Given the description of an element on the screen output the (x, y) to click on. 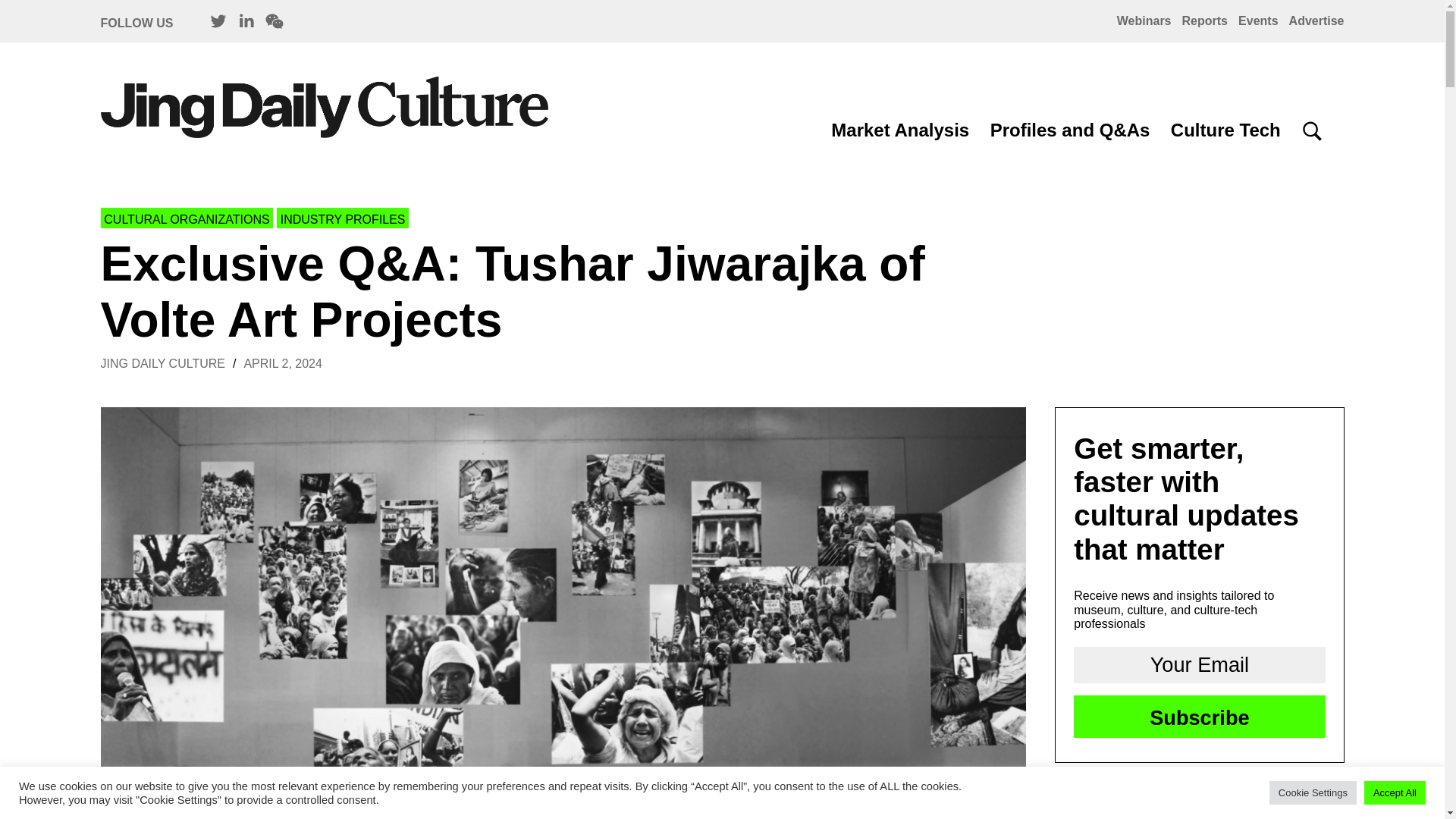
Webinars (1144, 20)
Market Analysis (900, 129)
Culture Tech (1225, 129)
Subscribe (1199, 716)
Advertise (1315, 20)
Reports (1204, 20)
Events (1258, 20)
